Given the description of an element on the screen output the (x, y) to click on. 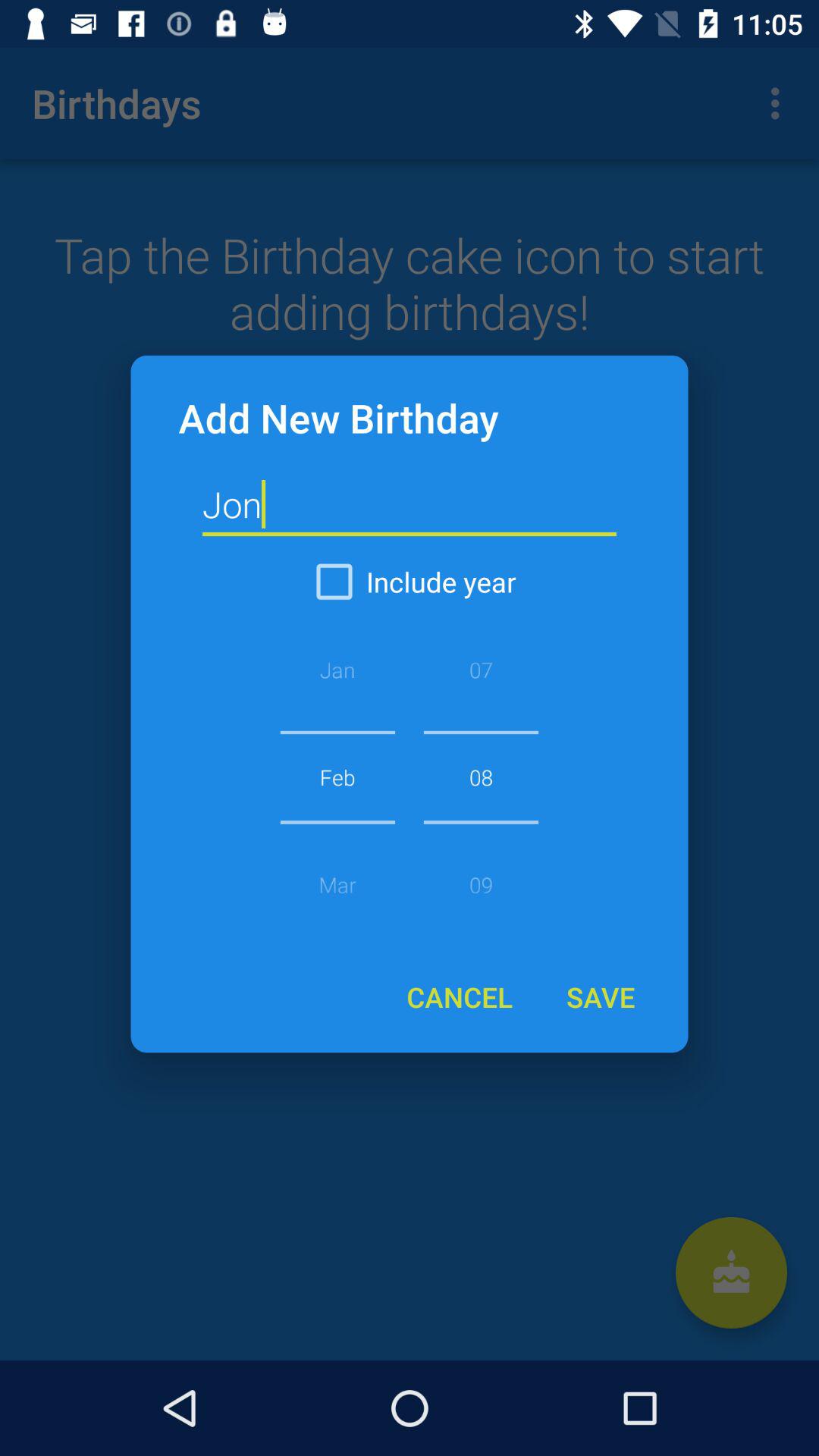
swipe until the save item (600, 996)
